Given the description of an element on the screen output the (x, y) to click on. 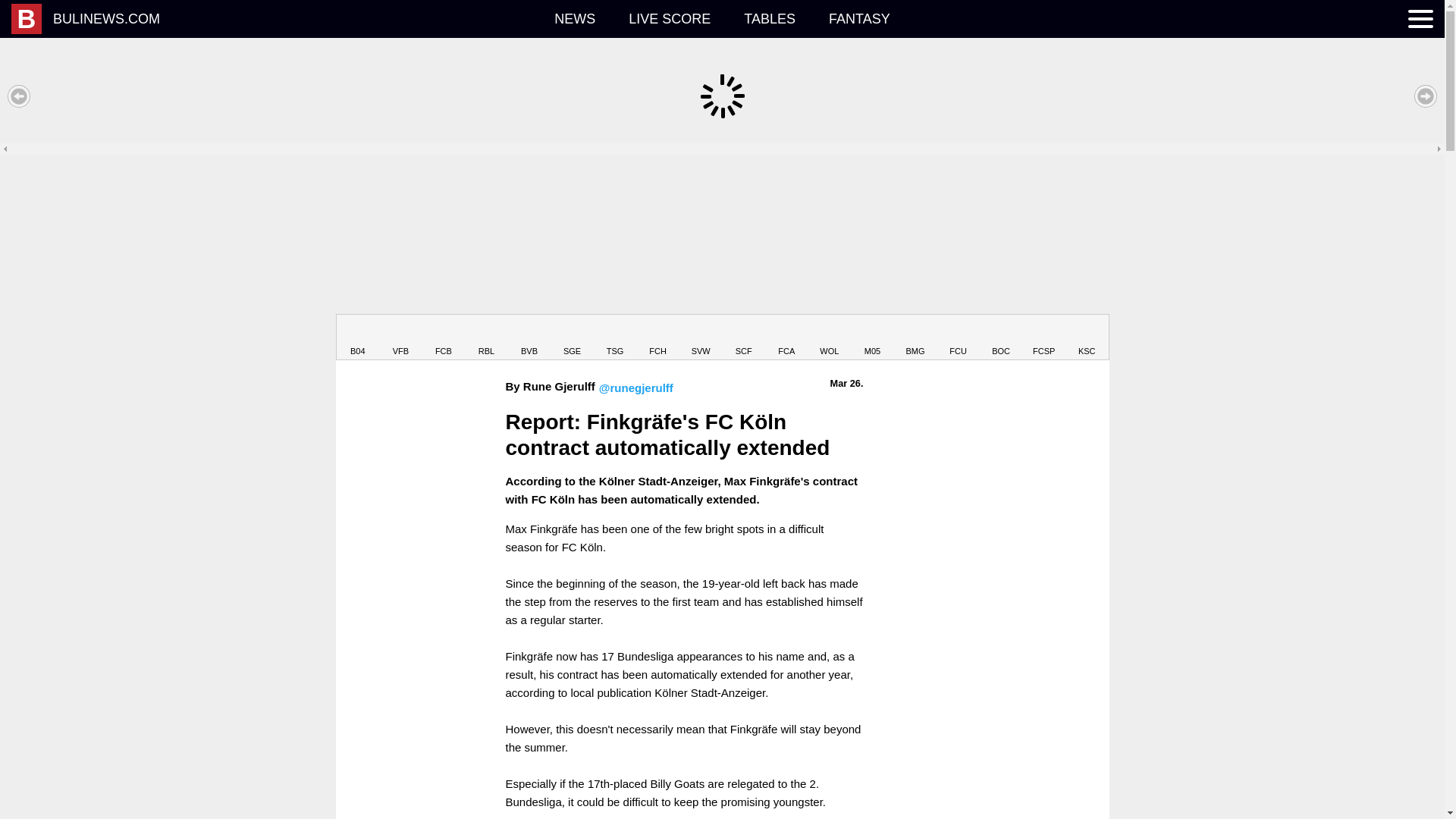
FC Bayern News (443, 337)
KSC (1086, 337)
RBL (486, 337)
Bochum News (1001, 337)
TABLES (769, 18)
NEWS (574, 18)
VFB (400, 337)
St. Pauli News (1043, 337)
B (26, 19)
FCA (786, 337)
FCSP (1043, 337)
BMG (915, 337)
Holstein Kiel News (1086, 337)
TSG Hoffenheim News (615, 337)
TSG (615, 337)
